Given the description of an element on the screen output the (x, y) to click on. 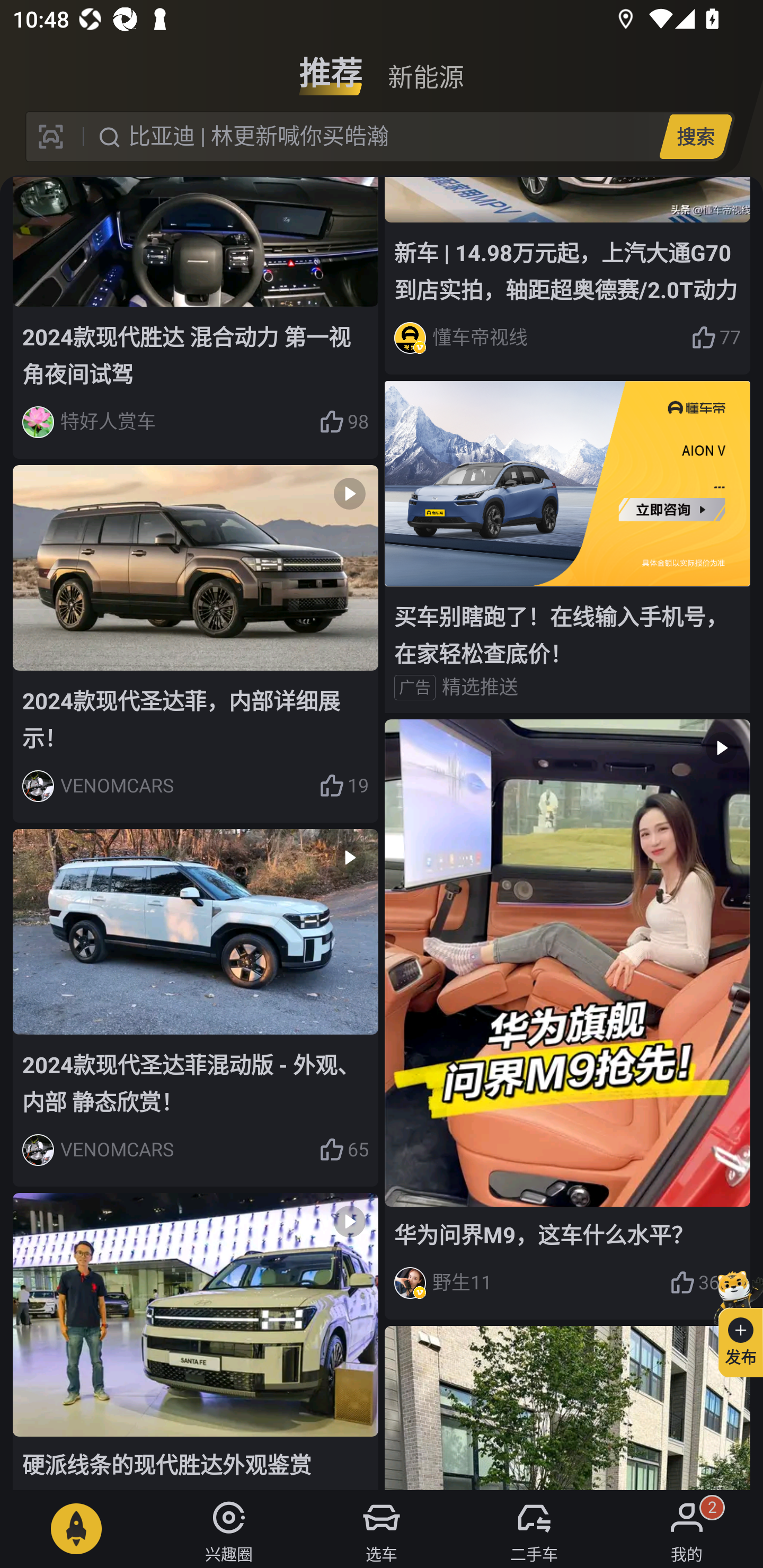
推荐 (330, 65)
新能源 (425, 65)
搜索 (695, 136)
2024款现代胜达 混合动力 第一视角夜间试驾 特好人赏车 98 (195, 318)
新车 | 14.98万元起，上汽大通G70到店实拍，轴距超奥德赛/2.0T动力 懂车帝视线 77 (567, 275)
77 (715, 337)
买车别瞎跑了！在线输入手机号，在家轻松查底价！ 广告 精选推送 (567, 547)
98 (343, 421)
 2024款现代圣达菲，内部详细展示！ VENOMCARS 19 (195, 644)
 华为问界M9，这车什么水平？ 野生11 3604 (567, 1019)
19 (343, 786)
 2024款现代圣达菲混动版 - 外观、内部 静态欣赏！ VENOMCARS 65 (195, 1007)
65 (343, 1149)
 硬派线条的现代胜达外观鉴赏 (195, 1341)
发布 (732, 1321)
 兴趣圈 (228, 1528)
 选车 (381, 1528)
 二手车 (533, 1528)
 我的 (686, 1528)
